Given the description of an element on the screen output the (x, y) to click on. 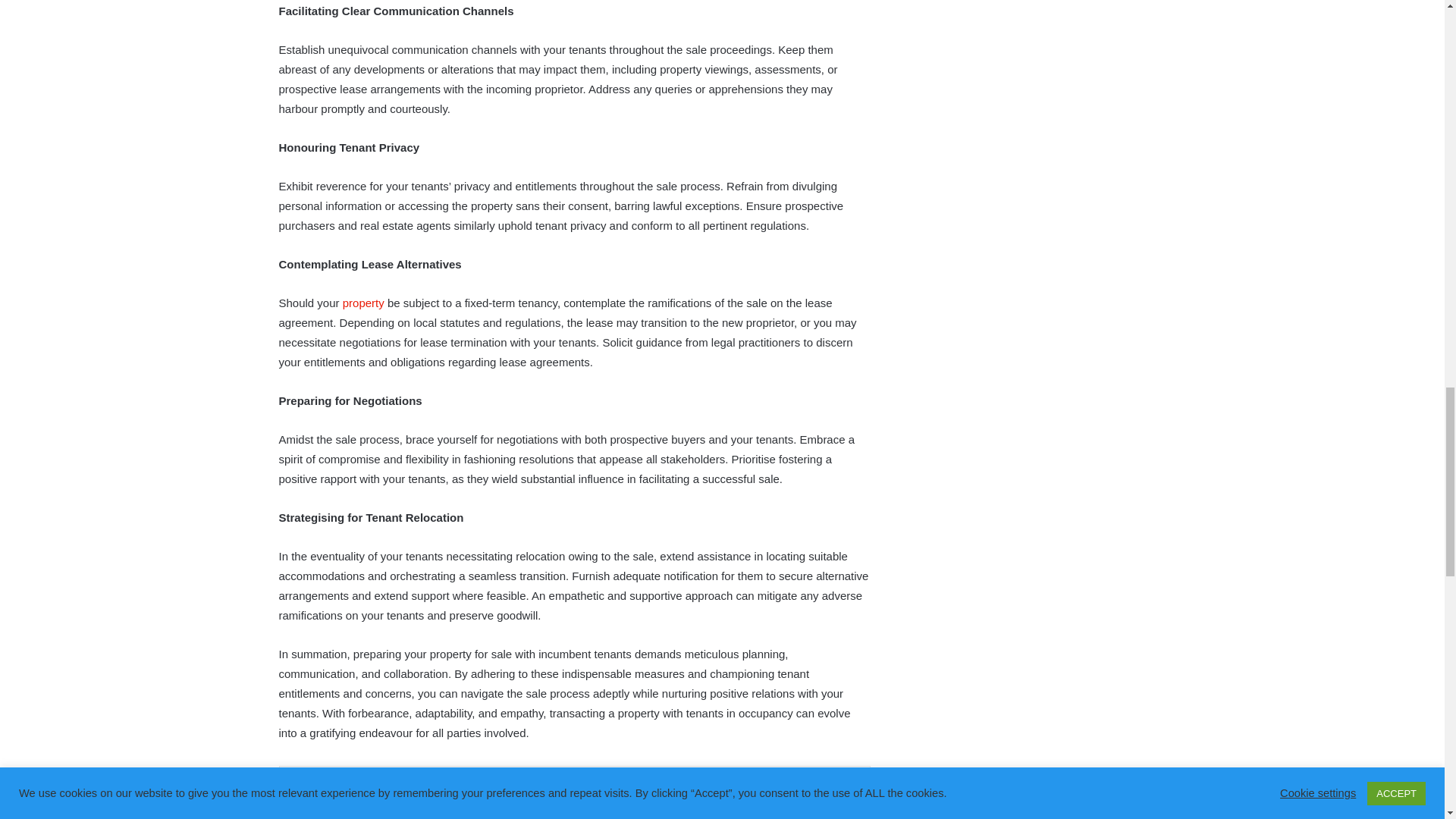
Pinterest (573, 790)
Twitter (439, 790)
property (364, 302)
Facebook (371, 790)
Facebook (371, 790)
LinkedIn (505, 790)
